Given the description of an element on the screen output the (x, y) to click on. 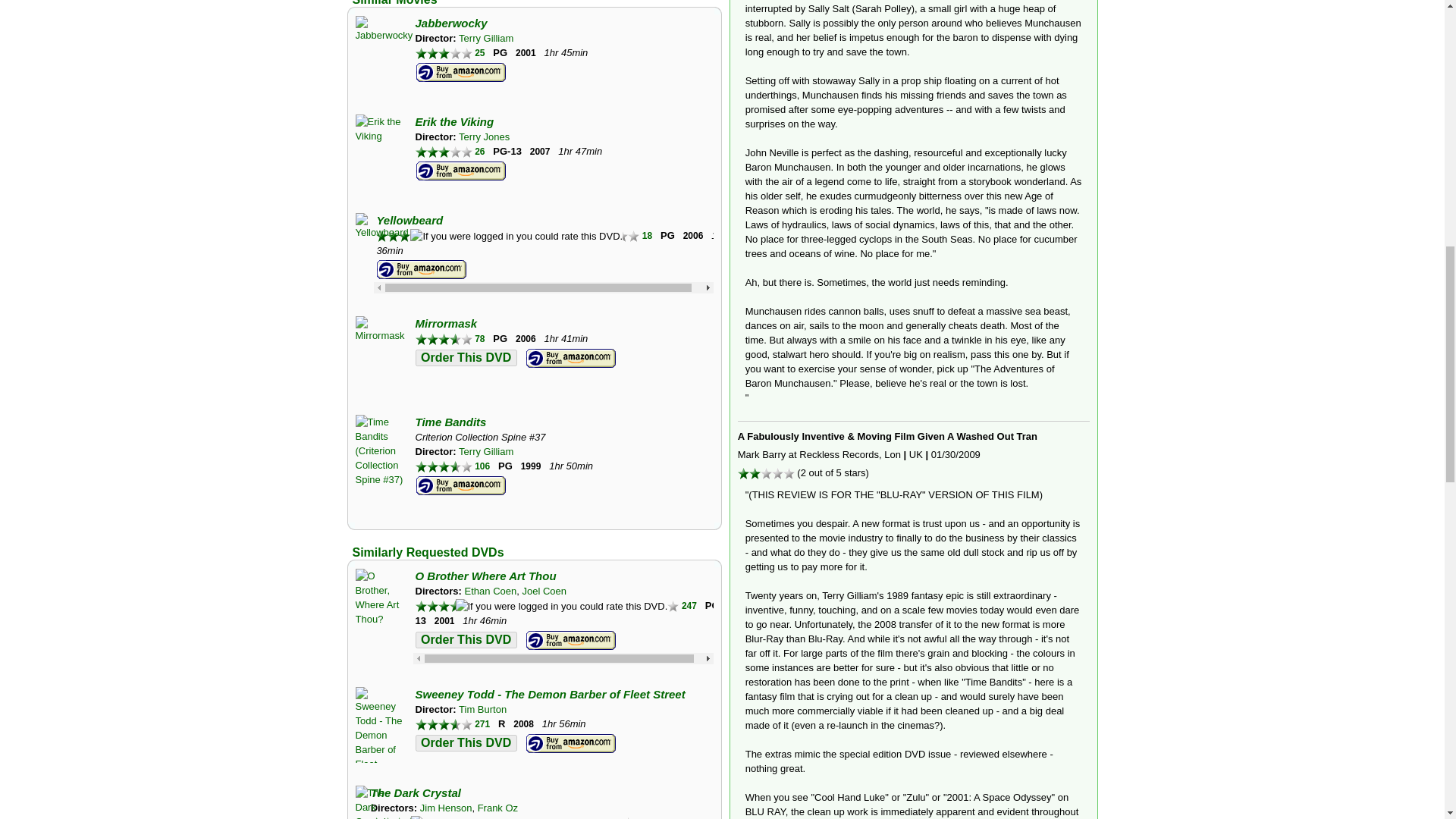
Buy from Amazon (460, 170)
Buy from Amazon (570, 640)
Buy from Amazon (460, 485)
Buy from Amazon (421, 269)
Buy from Amazon (570, 743)
Buy from Amazon (570, 358)
Order This DVD (465, 639)
Buy from Amazon (460, 72)
Order This DVD (465, 742)
Order This DVD (465, 356)
